Given the description of an element on the screen output the (x, y) to click on. 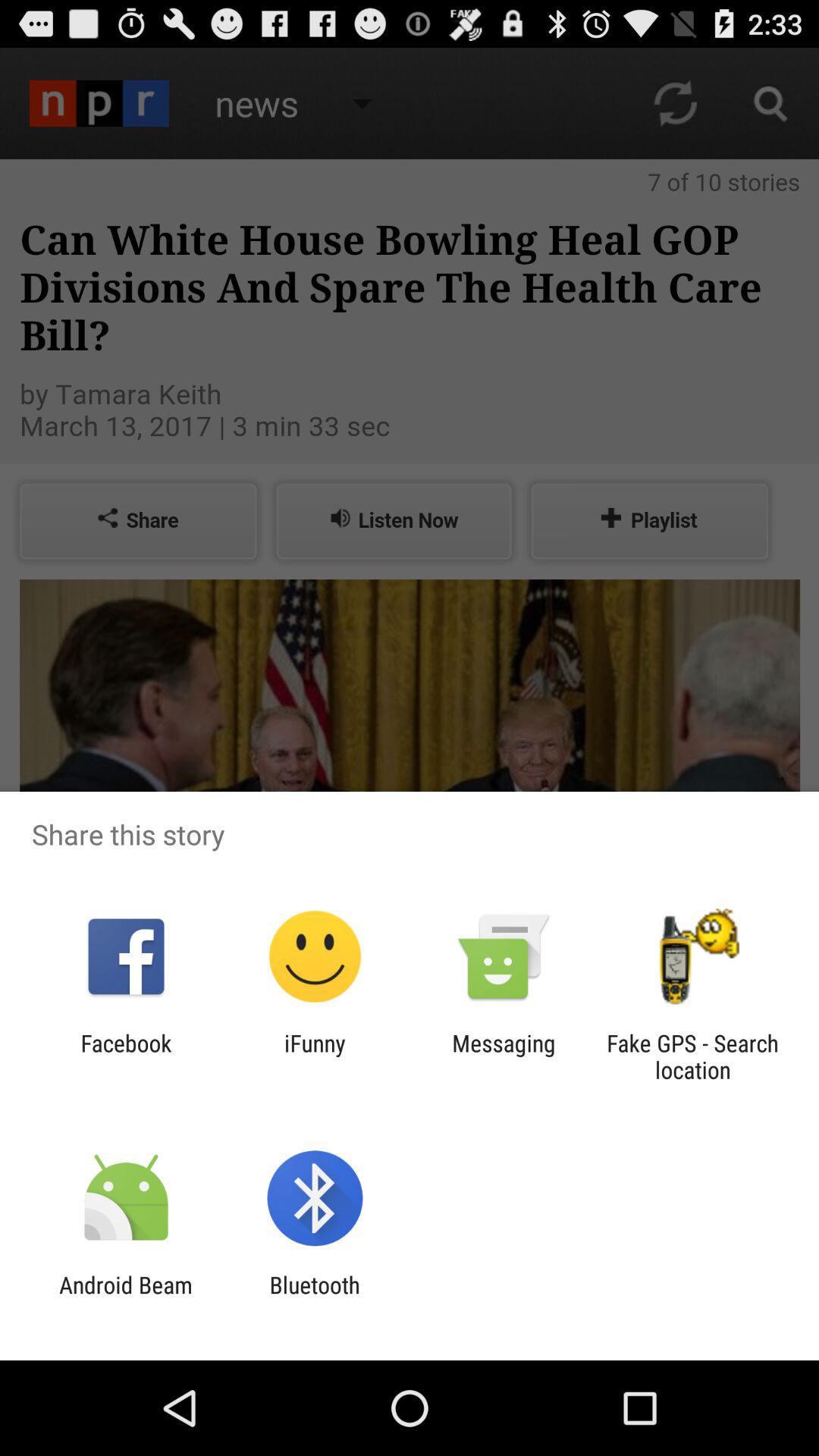
press the app to the left of messaging icon (314, 1056)
